Given the description of an element on the screen output the (x, y) to click on. 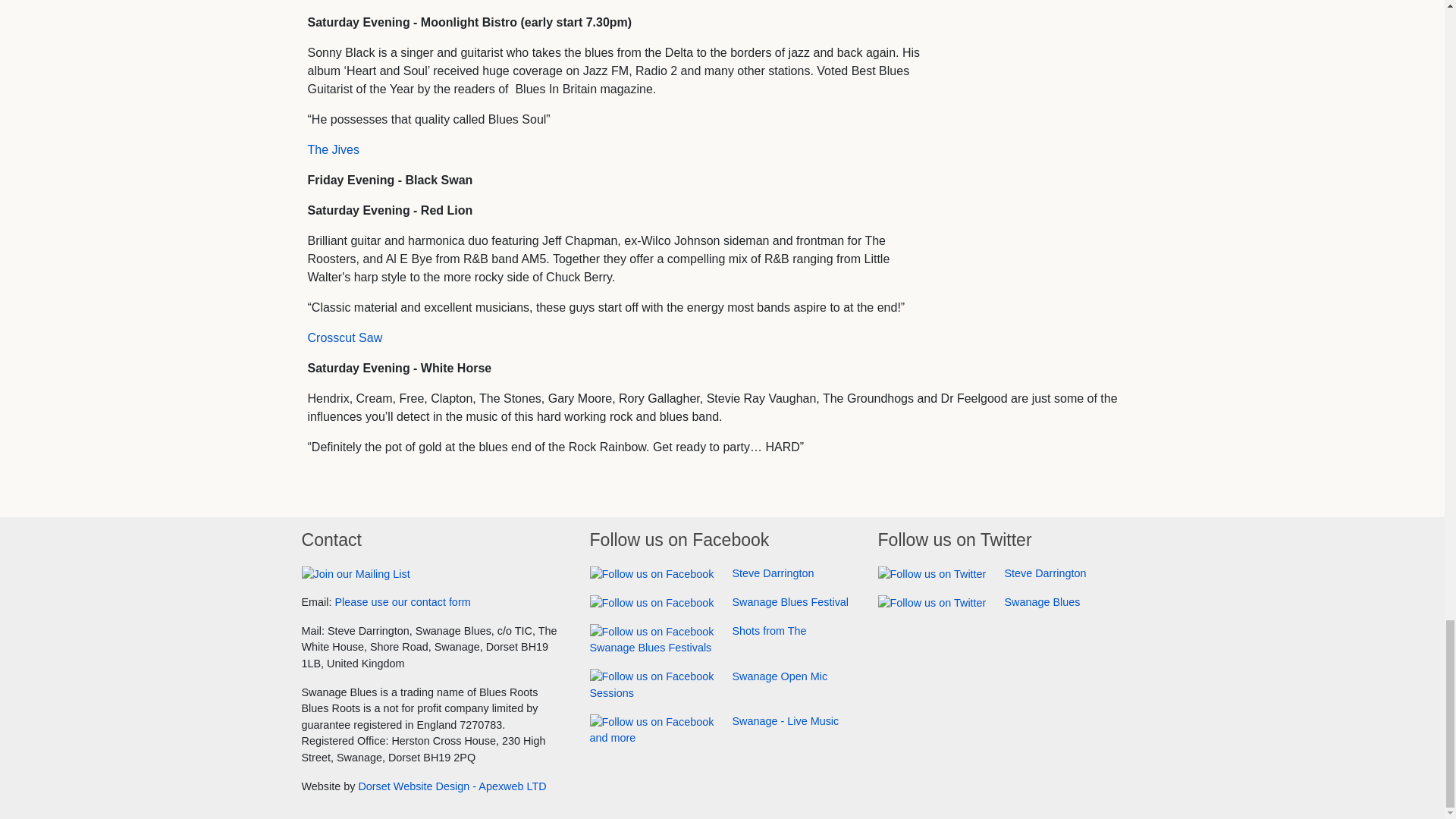
Swanage based website design from Apexweb LTD (452, 786)
The Jives (333, 149)
Shots from The Swanage Blues Festivals (697, 638)
Swanage Blues Festival (718, 602)
Dorset Website Design - Apexweb LTD (452, 786)
Please use our contact form (402, 602)
Steve Darrington (701, 573)
Crosscut Saw (344, 337)
